Given the description of an element on the screen output the (x, y) to click on. 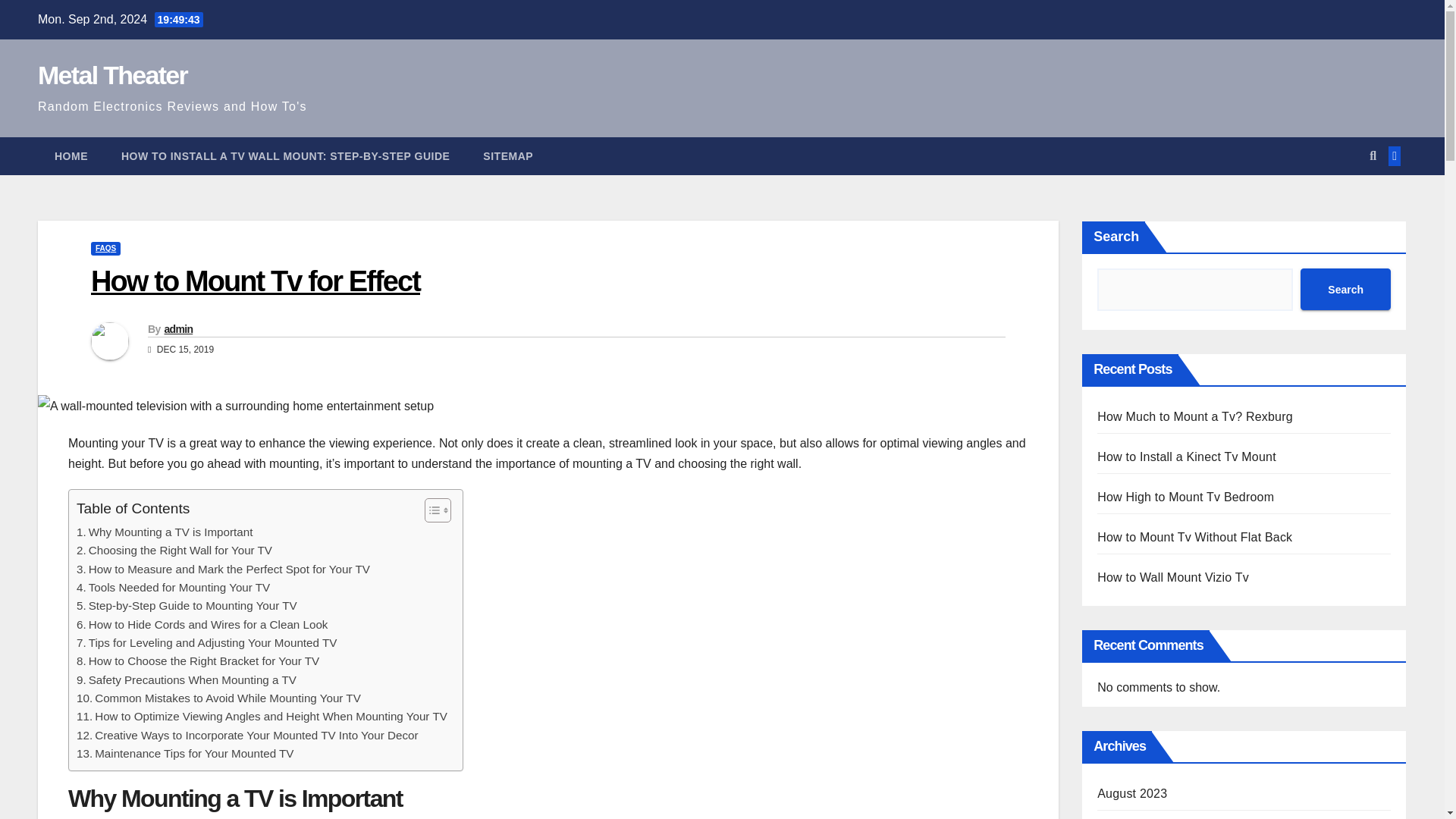
How to Choose the Right Bracket for Your TV (197, 660)
How to Mount Tv for Effect (255, 281)
Maintenance Tips for Your Mounted TV (185, 753)
Home (70, 156)
How to Measure and Mark the Perfect Spot for Your TV (223, 569)
Why Mounting a TV is Important (164, 532)
Tips for Leveling and Adjusting Your Mounted TV (206, 642)
SITEMAP (507, 156)
Why Mounting a TV is Important (164, 532)
